Given the description of an element on the screen output the (x, y) to click on. 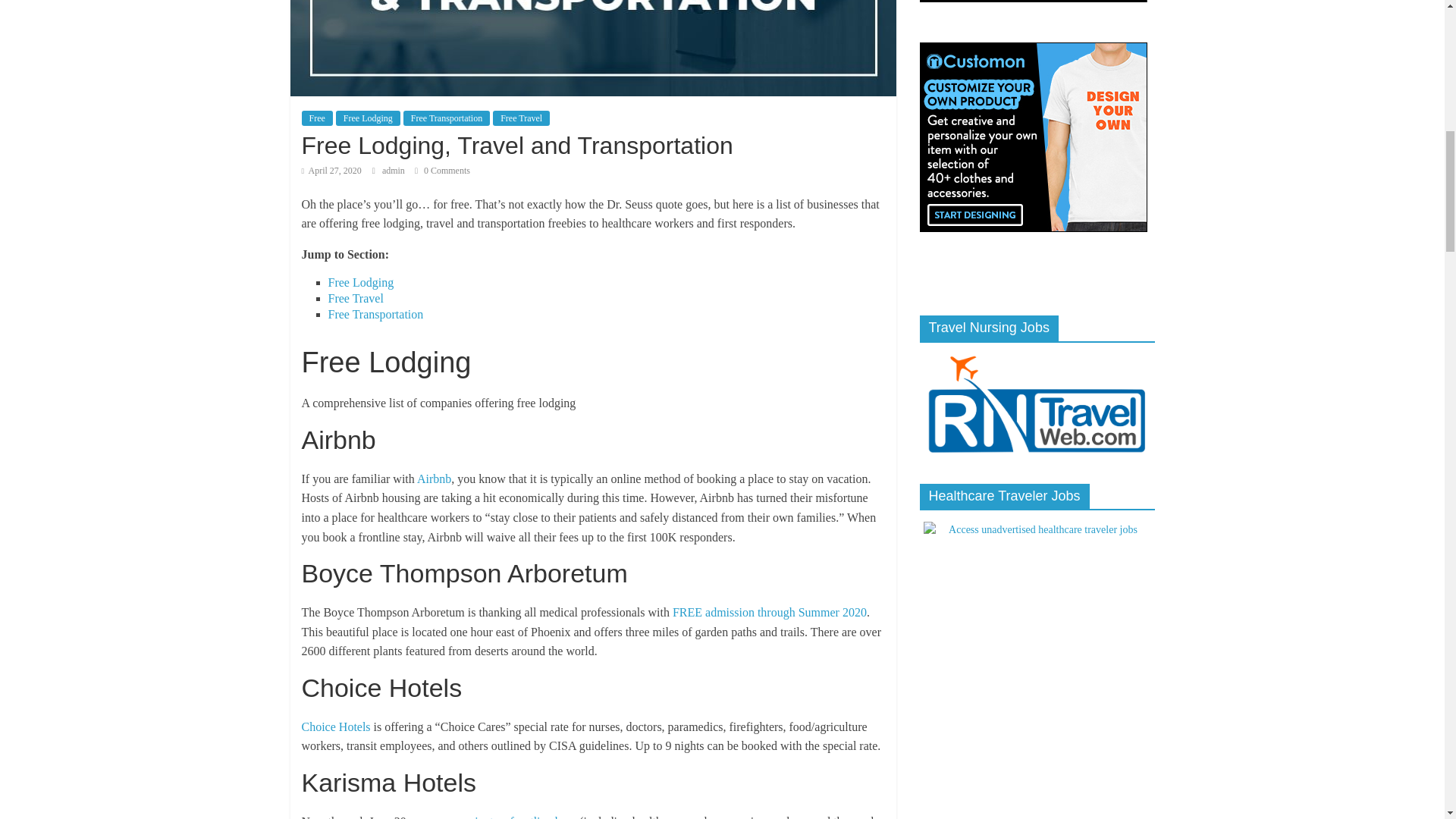
Free Lodging (368, 118)
Free (317, 118)
April 27, 2020 (331, 170)
admin (394, 170)
admin (394, 170)
Free Travel (521, 118)
Free Transportation (375, 314)
0 Comments (442, 170)
Airbnb (433, 478)
Free Travel (354, 297)
